Given the description of an element on the screen output the (x, y) to click on. 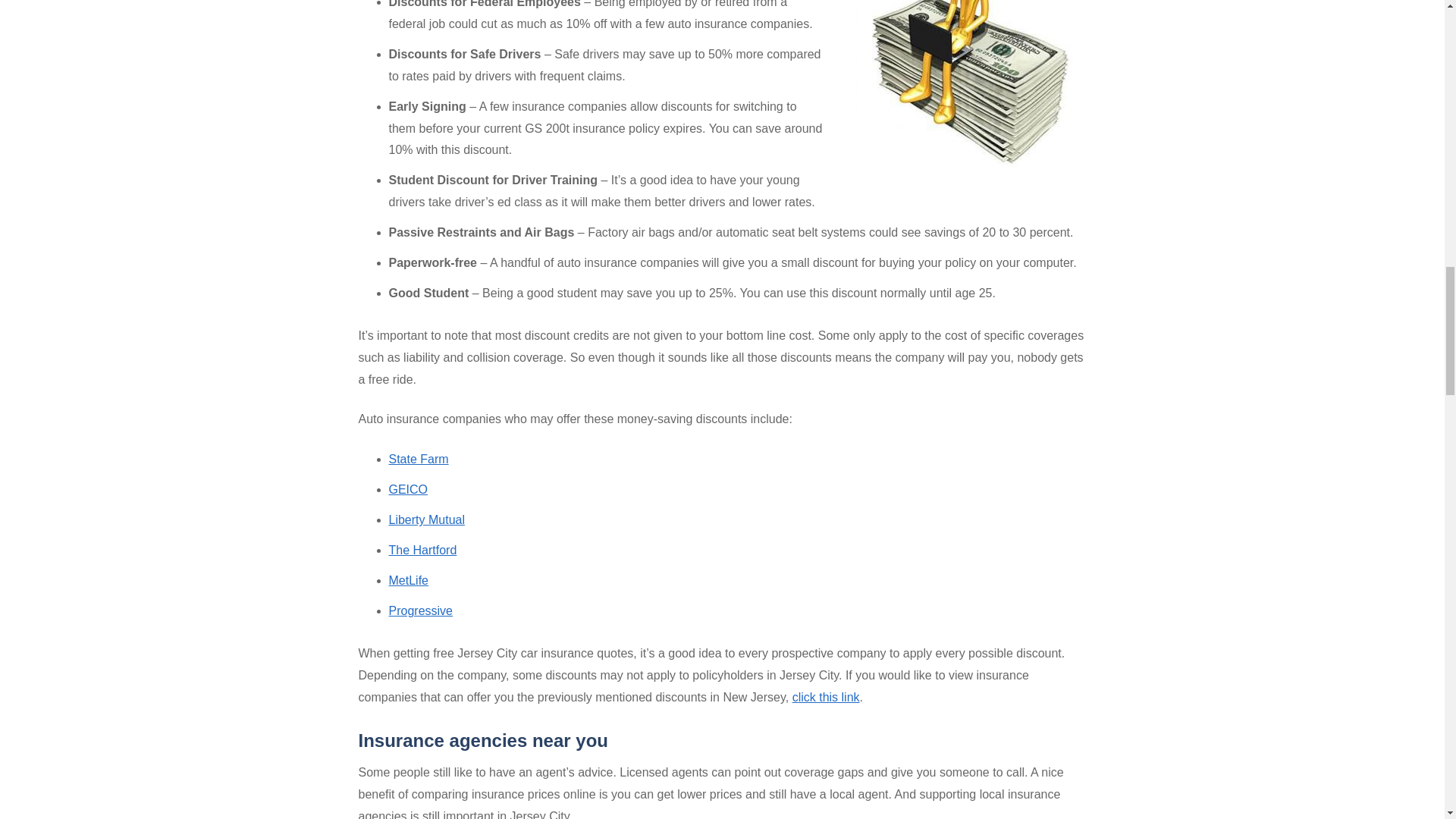
GEICO (408, 489)
click this link (826, 697)
State Farm (418, 459)
MetLife (408, 580)
Progressive (419, 610)
Liberty Mutual (426, 519)
The Hartford (422, 549)
